Given the description of an element on the screen output the (x, y) to click on. 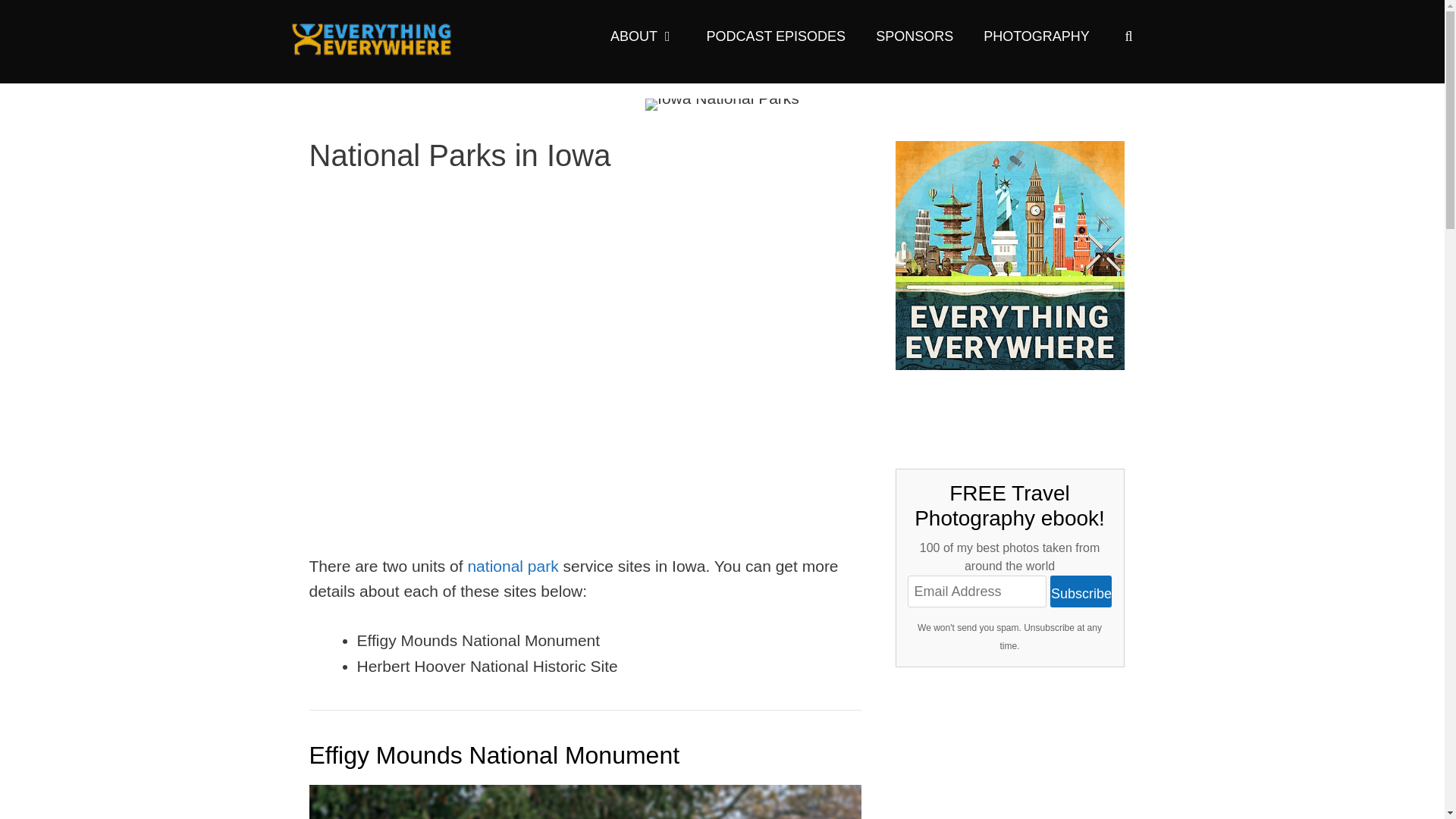
Subscribe (1080, 591)
PODCAST EPISODES (775, 36)
Iowa National Parks (722, 104)
national park (512, 565)
Search (41, 20)
ABOUT (642, 36)
PHOTOGRAPHY (1036, 36)
SPONSORS (914, 36)
